Given the description of an element on the screen output the (x, y) to click on. 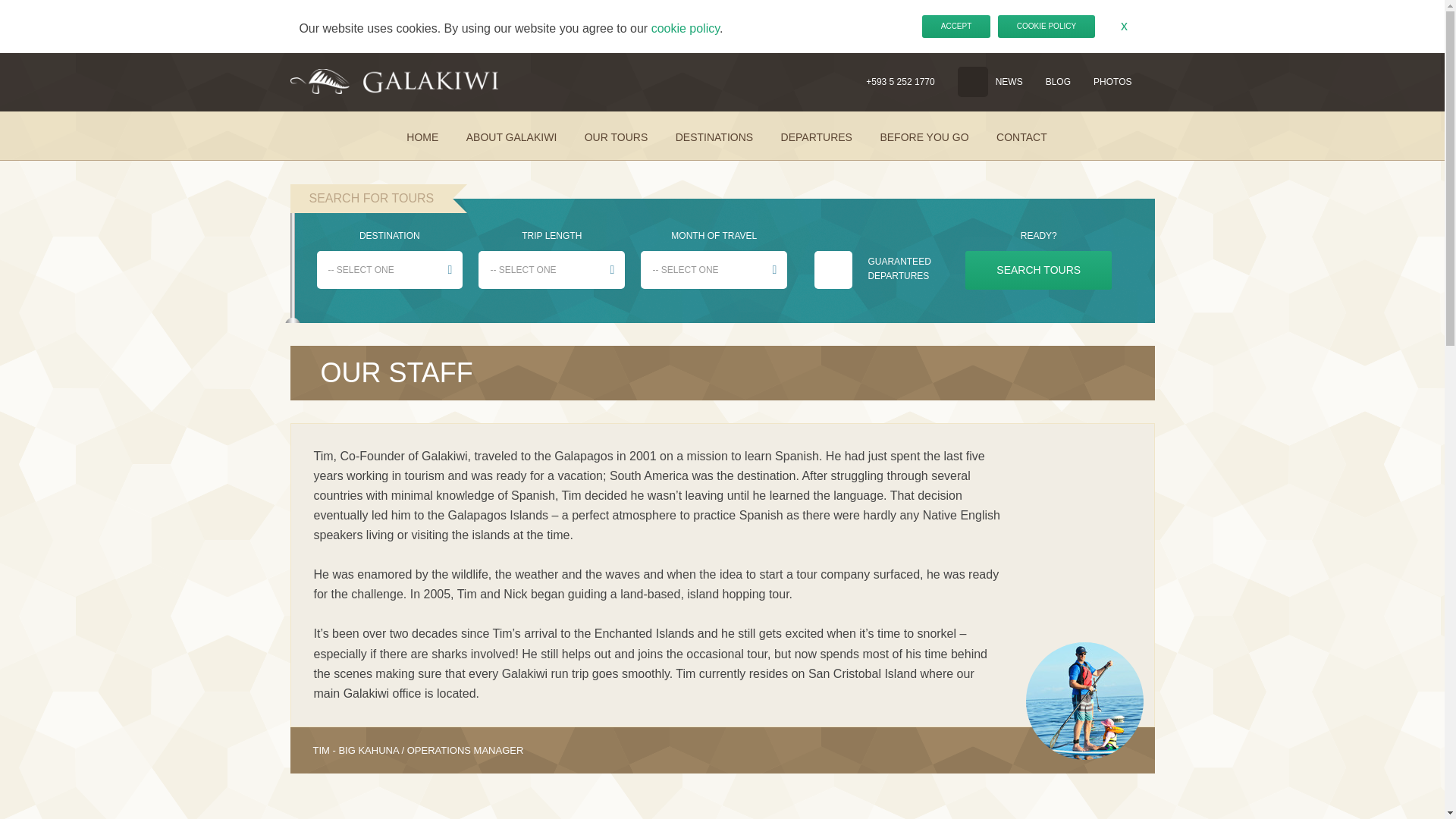
COOKIE POLICY (1045, 26)
OUR TOURS (611, 137)
ABOUT GALAKIWI (506, 137)
HOME (417, 137)
DESTINATIONS (709, 137)
DEPARTURES (812, 137)
NEWS (1009, 81)
ACCEPT (956, 26)
cookie policy (684, 28)
BEFORE YOU GO (919, 137)
PHOTOS (1112, 81)
